Given the description of an element on the screen output the (x, y) to click on. 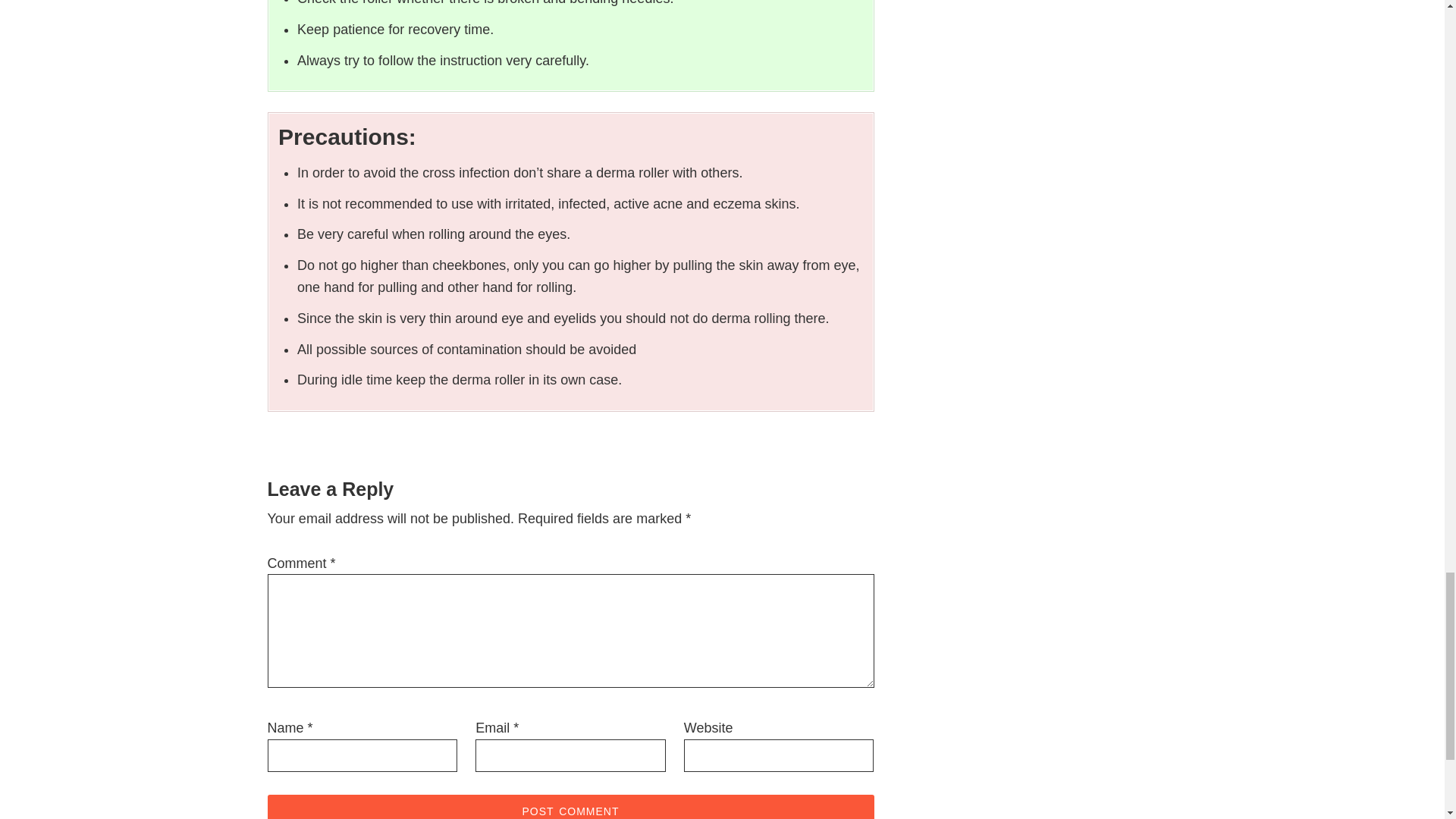
Post Comment (569, 806)
Post Comment (569, 806)
